Given the description of an element on the screen output the (x, y) to click on. 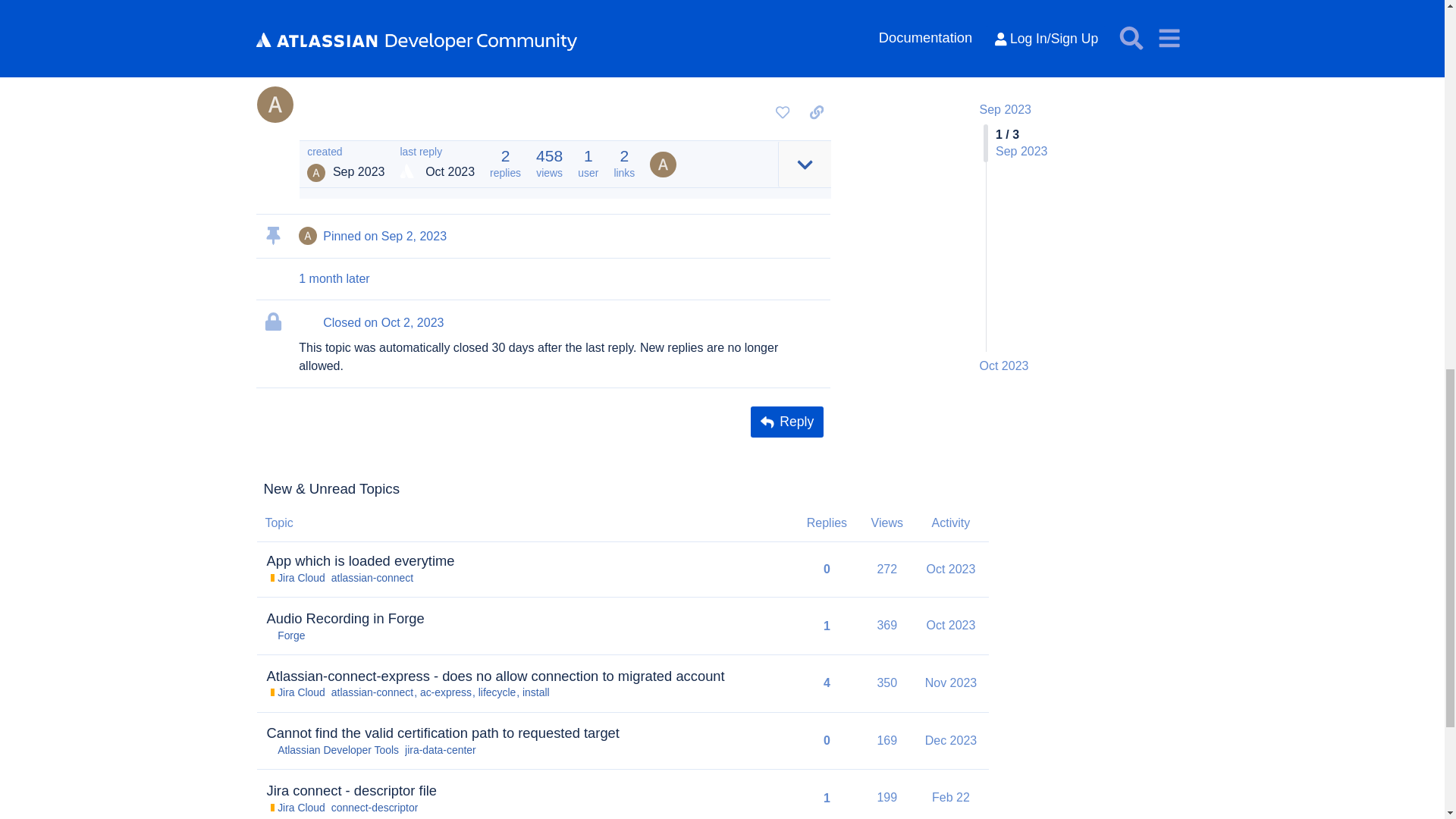
Developer.atlassian.com (703, 39)
last reply (436, 152)
Reply (786, 421)
17 clicks (398, 20)
App which is loaded everytime (360, 560)
Jira Cloud (295, 578)
Developer changelog 17 (573, 13)
atlassian-connect (372, 578)
2 clicks (694, 59)
content and communication channels 2 (592, 58)
